Given the description of an element on the screen output the (x, y) to click on. 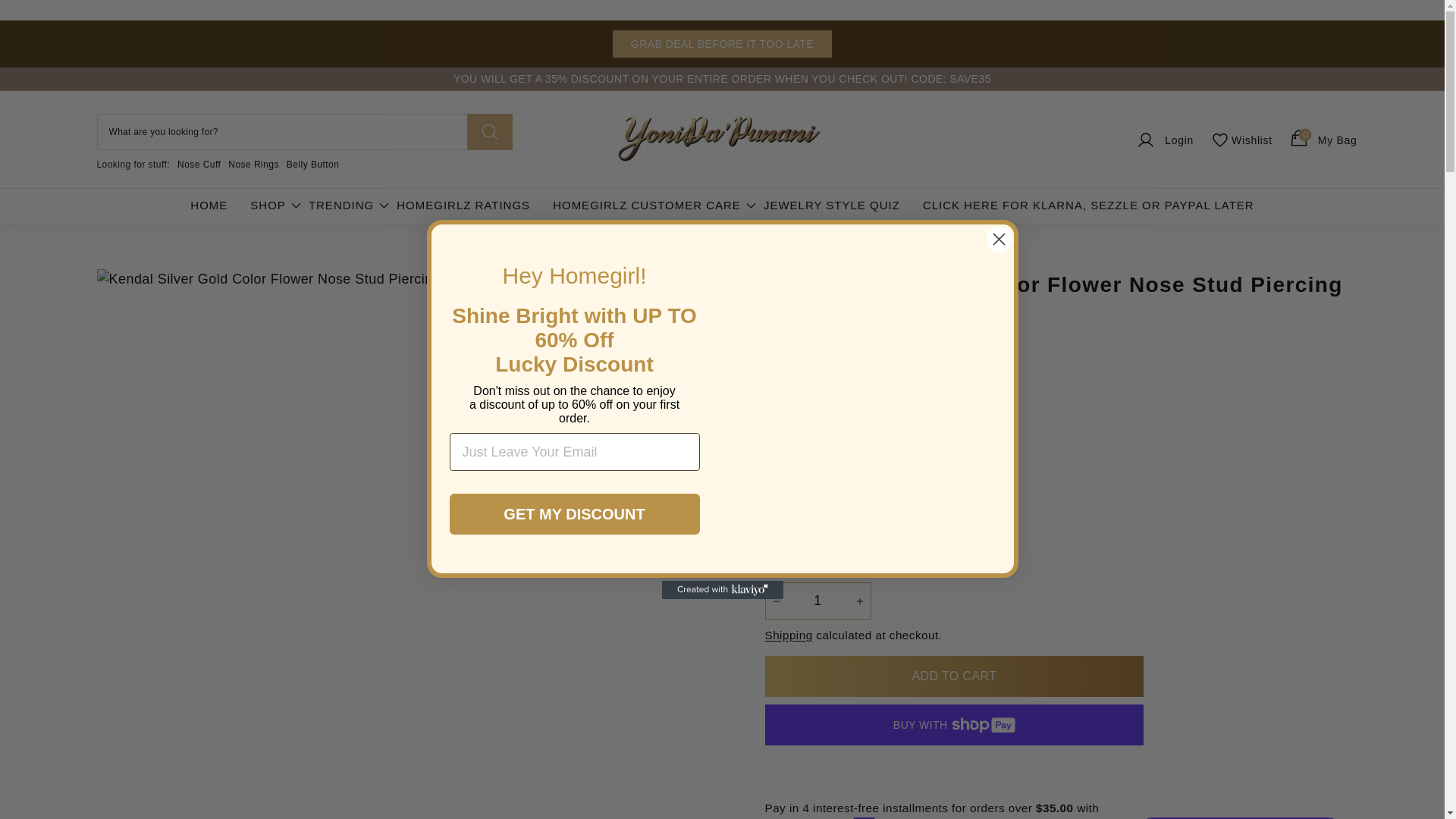
SHOP (267, 205)
HOME (208, 205)
GRAB DEAL BEFORE IT TOO LATE (721, 43)
Nose Cuff (199, 163)
Login (1321, 139)
GOLD (1163, 140)
SILVER (312, 163)
Nose Rings (817, 600)
Wishlist (253, 163)
Skip to content (1240, 140)
